Given the description of an element on the screen output the (x, y) to click on. 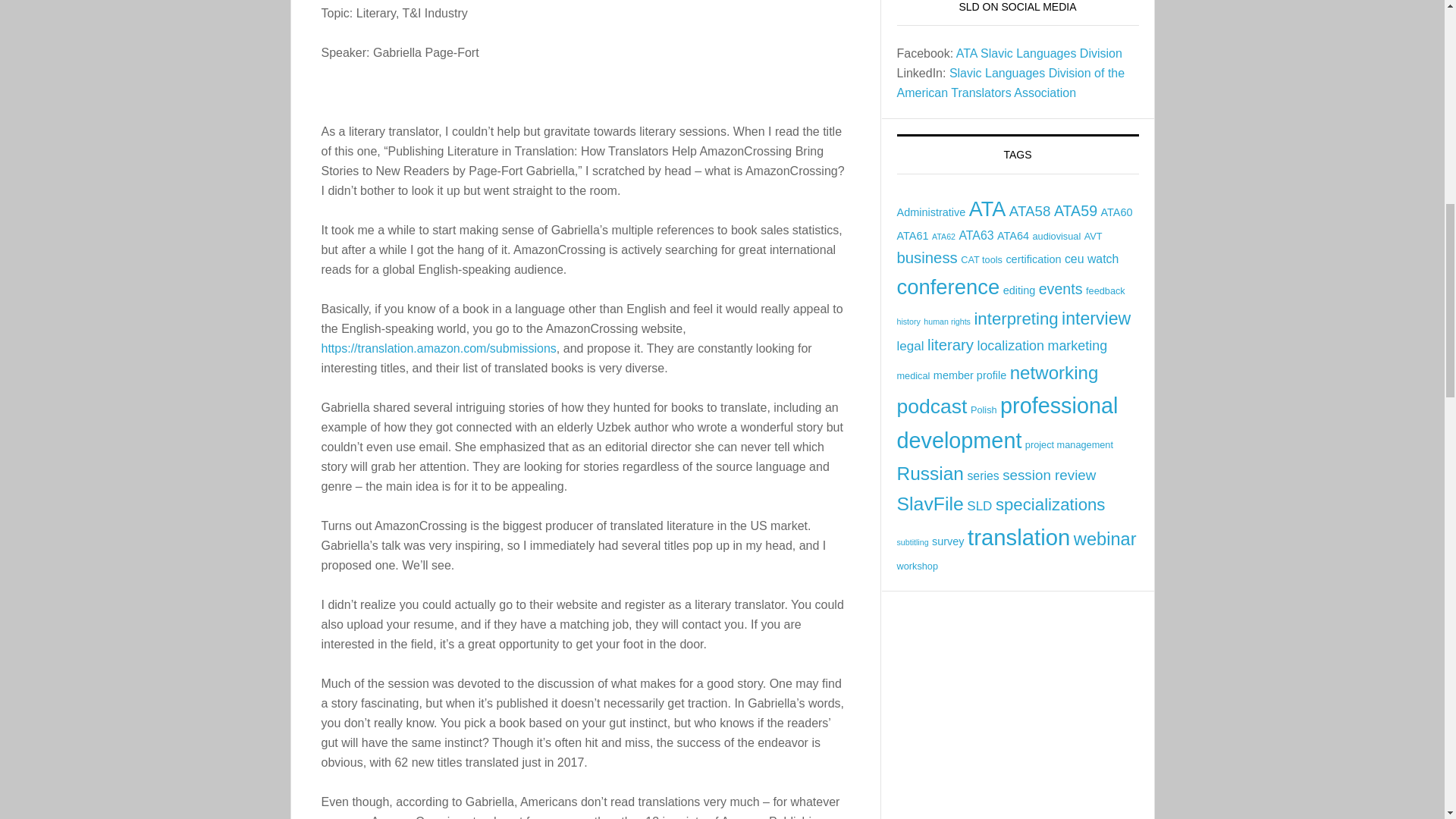
ATA (987, 208)
Administrative (930, 212)
ATA Slavic Languages Division (1039, 52)
ATA58 (1030, 211)
